Given the description of an element on the screen output the (x, y) to click on. 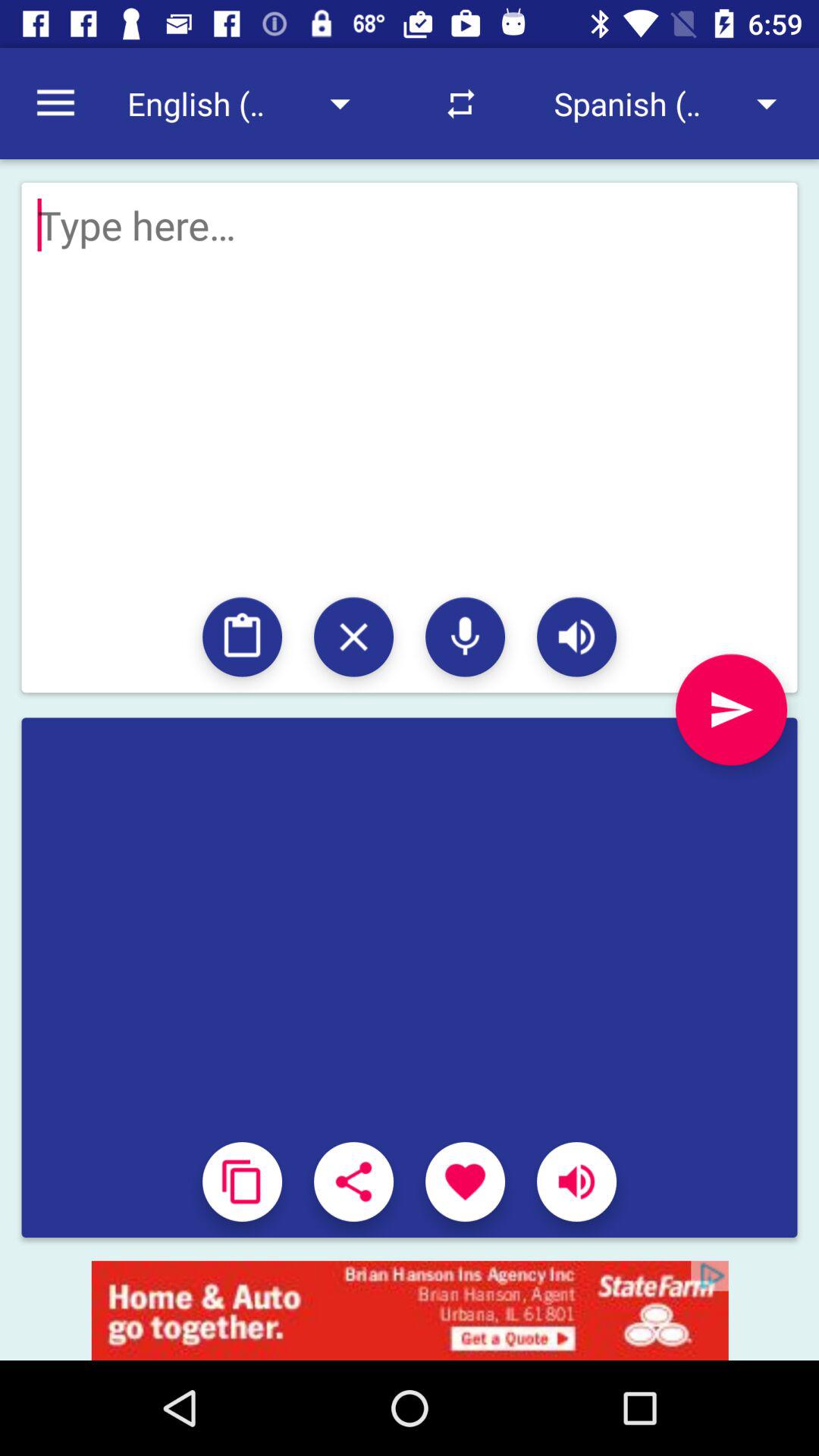
speaker volume (576, 636)
